Given the description of an element on the screen output the (x, y) to click on. 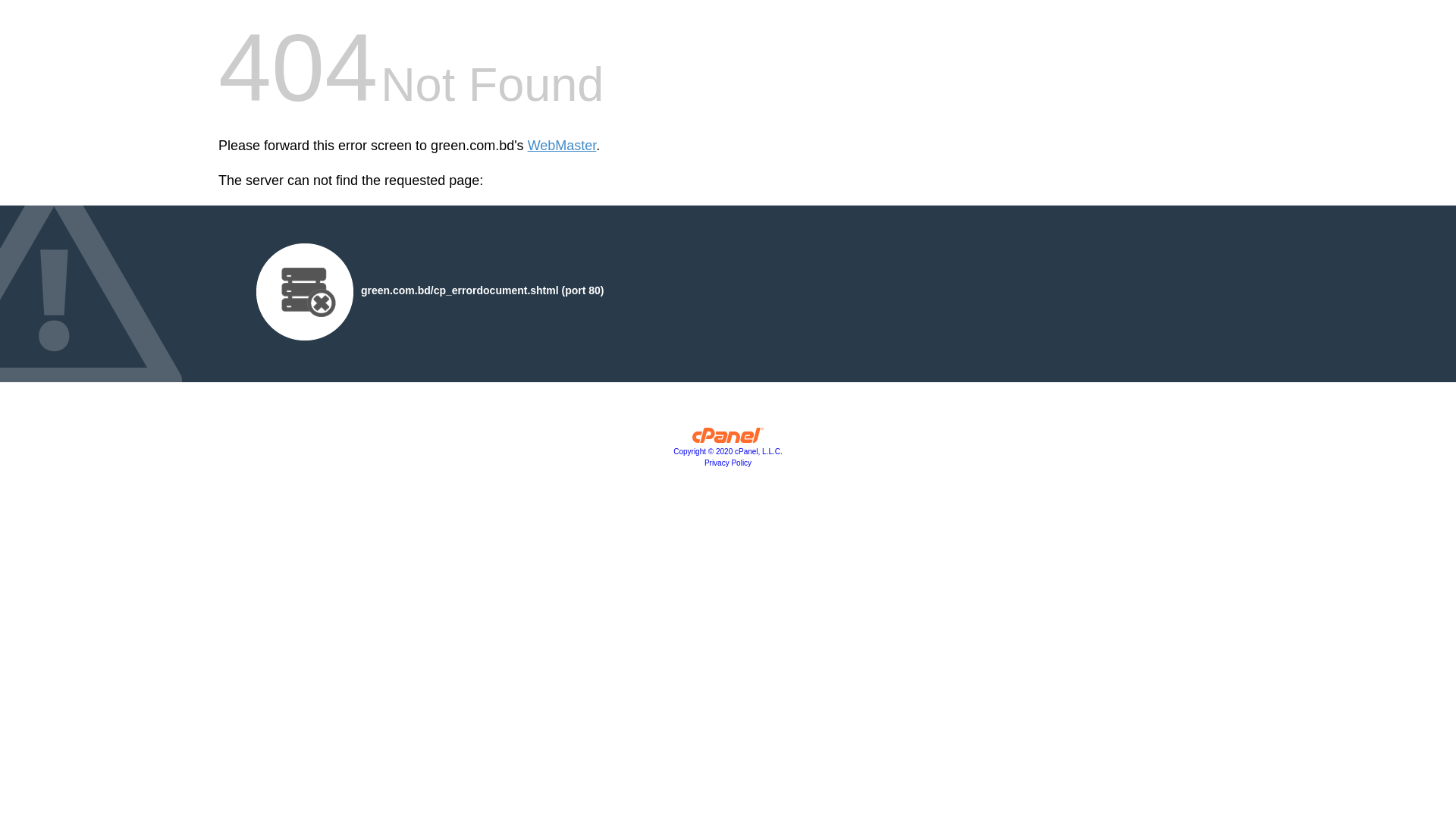
cPanel, Inc. Element type: hover (728, 439)
Privacy Policy Element type: text (727, 462)
WebMaster Element type: text (561, 145)
